Given the description of an element on the screen output the (x, y) to click on. 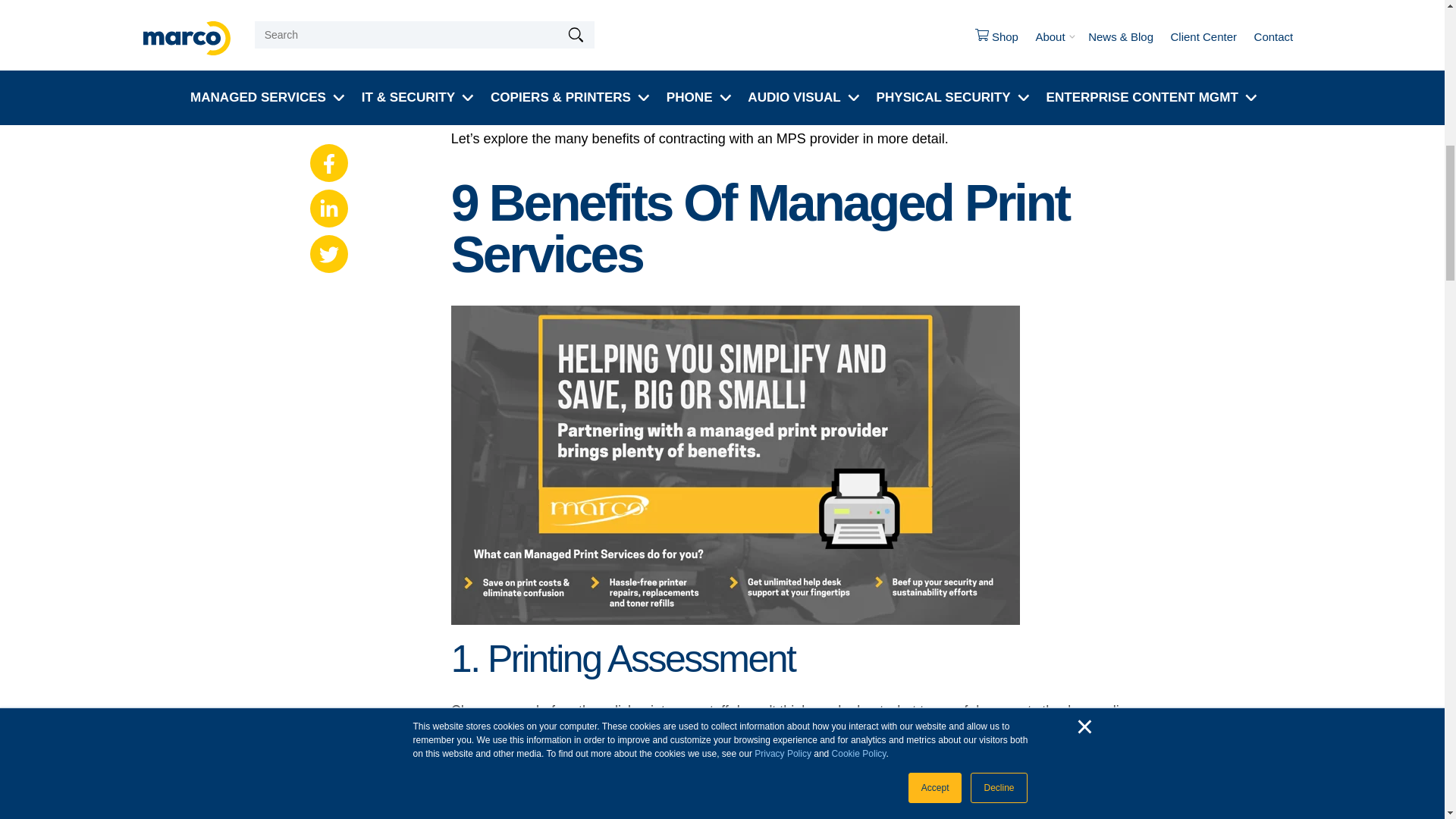
Share to Twitter (328, 1)
